Given the description of an element on the screen output the (x, y) to click on. 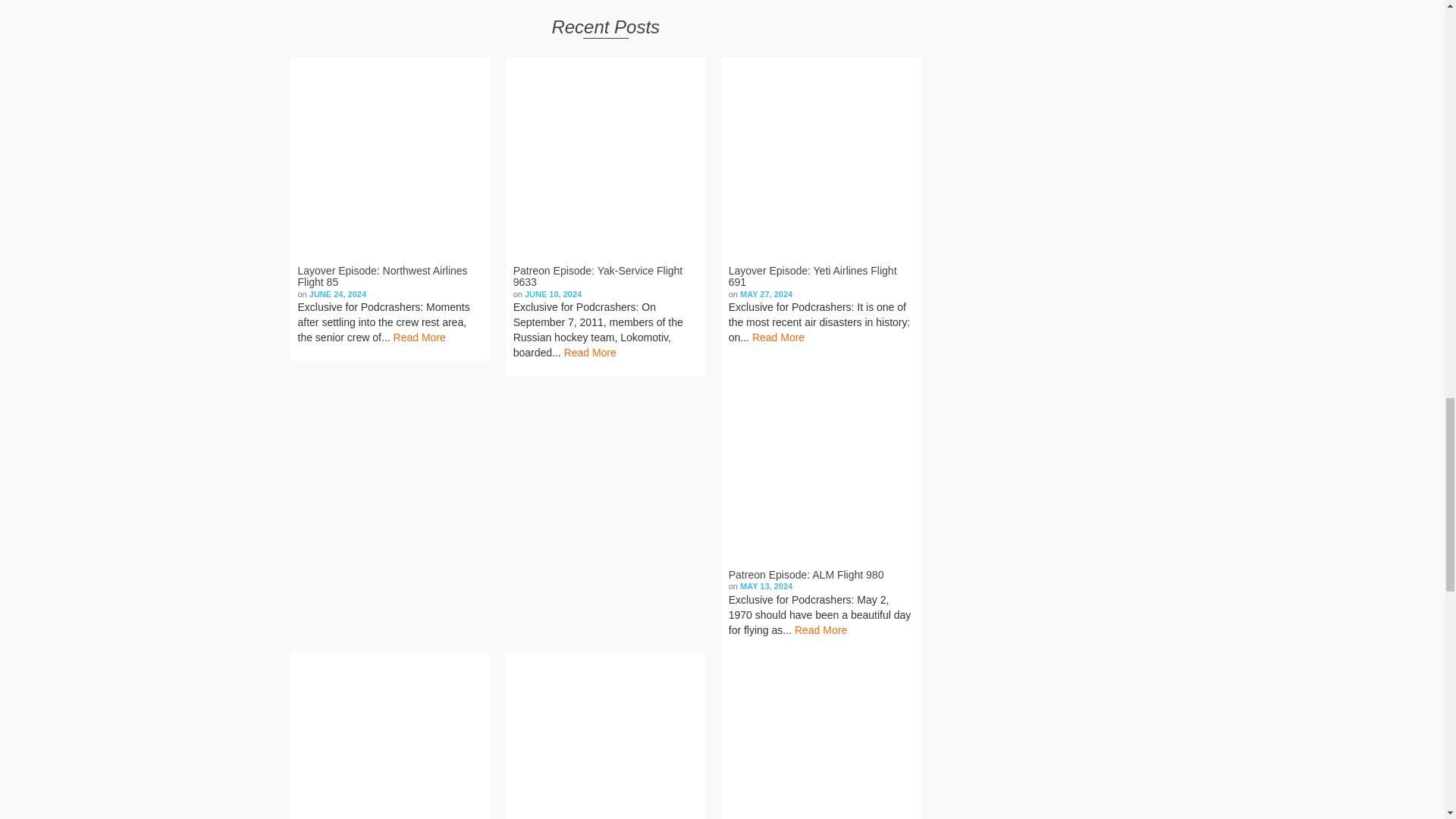
Patreon Episode: ALM Flight 980 (820, 461)
Layover Episode: Northwest Airlines Flight 85 (389, 157)
Patreon Episode: National Airlines Flight 102 (605, 736)
Layover Episode: Lynyrd Skynyrd (389, 736)
Layover Episode: Yeti Airlines Flight 691 (820, 157)
Patreon Episode: Yak-Service Flight 9633 (605, 157)
